Given the description of an element on the screen output the (x, y) to click on. 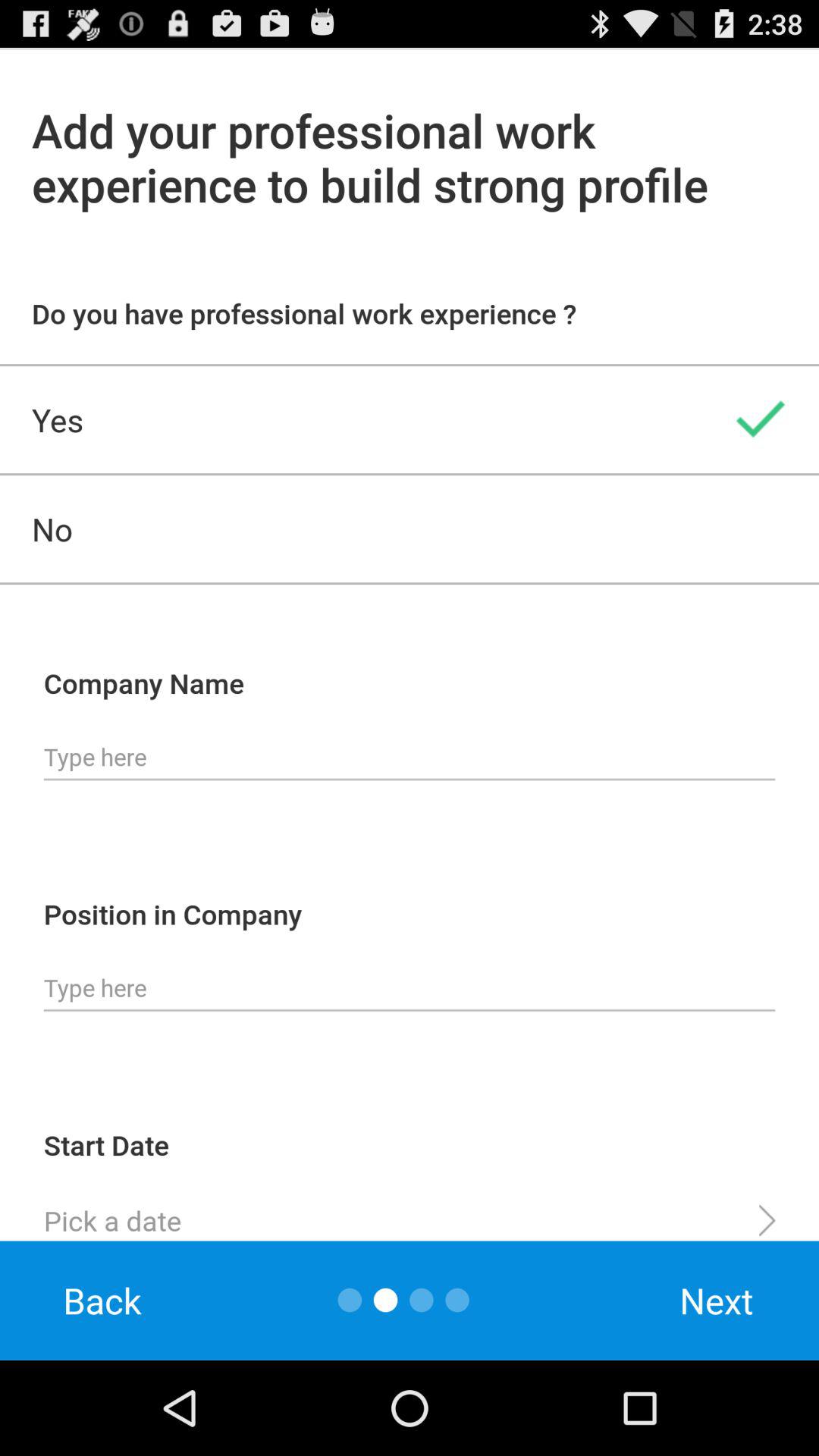
fill out company name (409, 757)
